Given the description of an element on the screen output the (x, y) to click on. 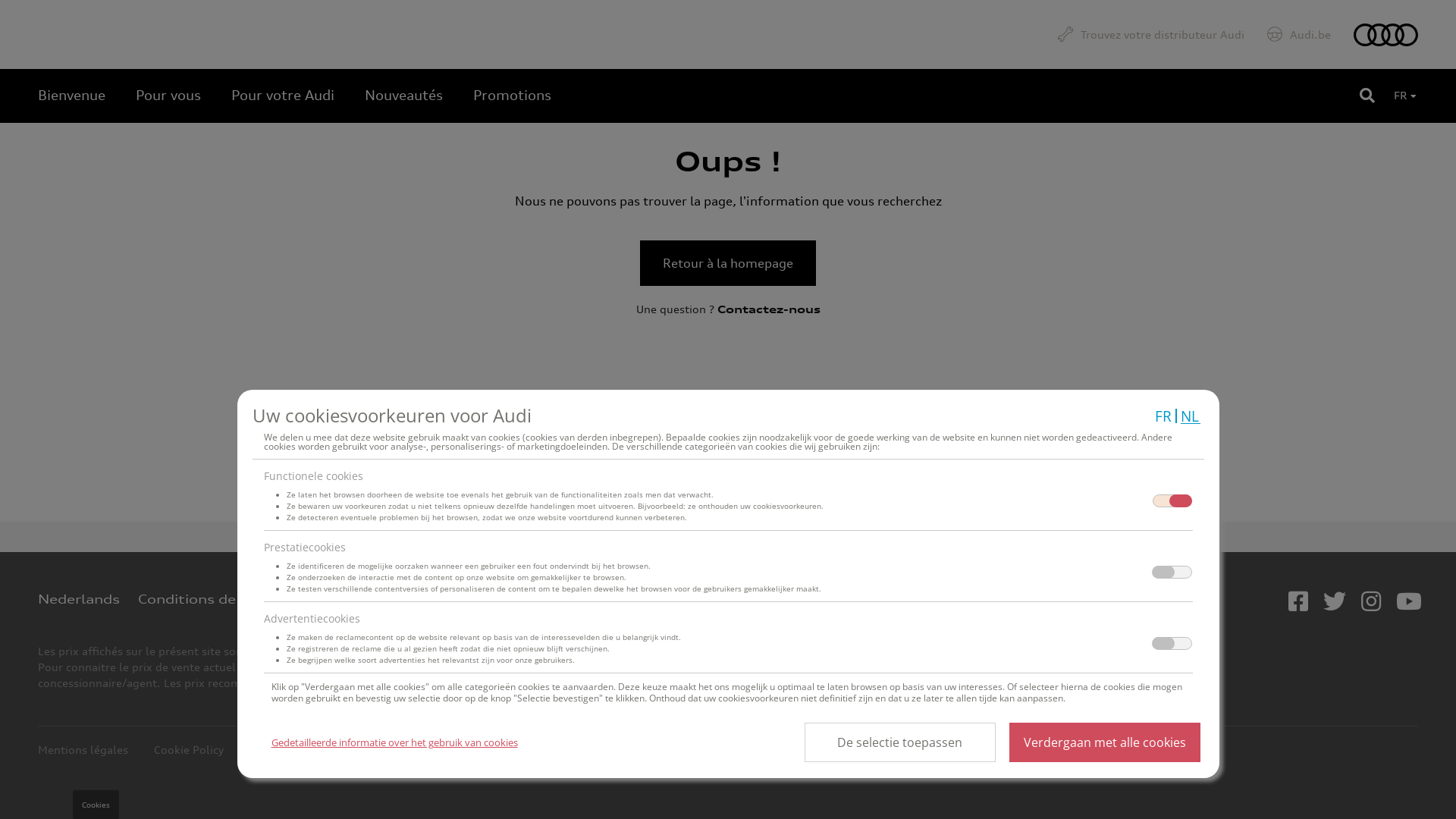
De selectie toepassen Element type: text (898, 742)
Promotions Element type: text (512, 94)
Instagram Element type: hover (1370, 601)
Twitter Element type: hover (1334, 601)
Trouvez votre distributeur Audi Element type: text (1150, 34)
Verdergaan met alle cookies Element type: text (1103, 742)
Contactez-nous Element type: text (768, 308)
Youtube Element type: hover (1408, 601)
___ Element type: text (20, 8)
Facebook Element type: hover (1298, 601)
FR Element type: text (1405, 95)
FR Element type: text (1163, 415)
Gedetailleerde informatie over het gebruik van cookies Element type: text (394, 742)
Cookie Policy Element type: text (188, 749)
Pour votre Audi Element type: text (282, 94)
Bienvenue Element type: text (71, 94)
Audi.be Element type: text (1298, 34)
Nederlands Element type: text (78, 598)
Pour vous Element type: text (168, 94)
NL Element type: text (1189, 415)
Conditions de vente Element type: text (208, 598)
